Given the description of an element on the screen output the (x, y) to click on. 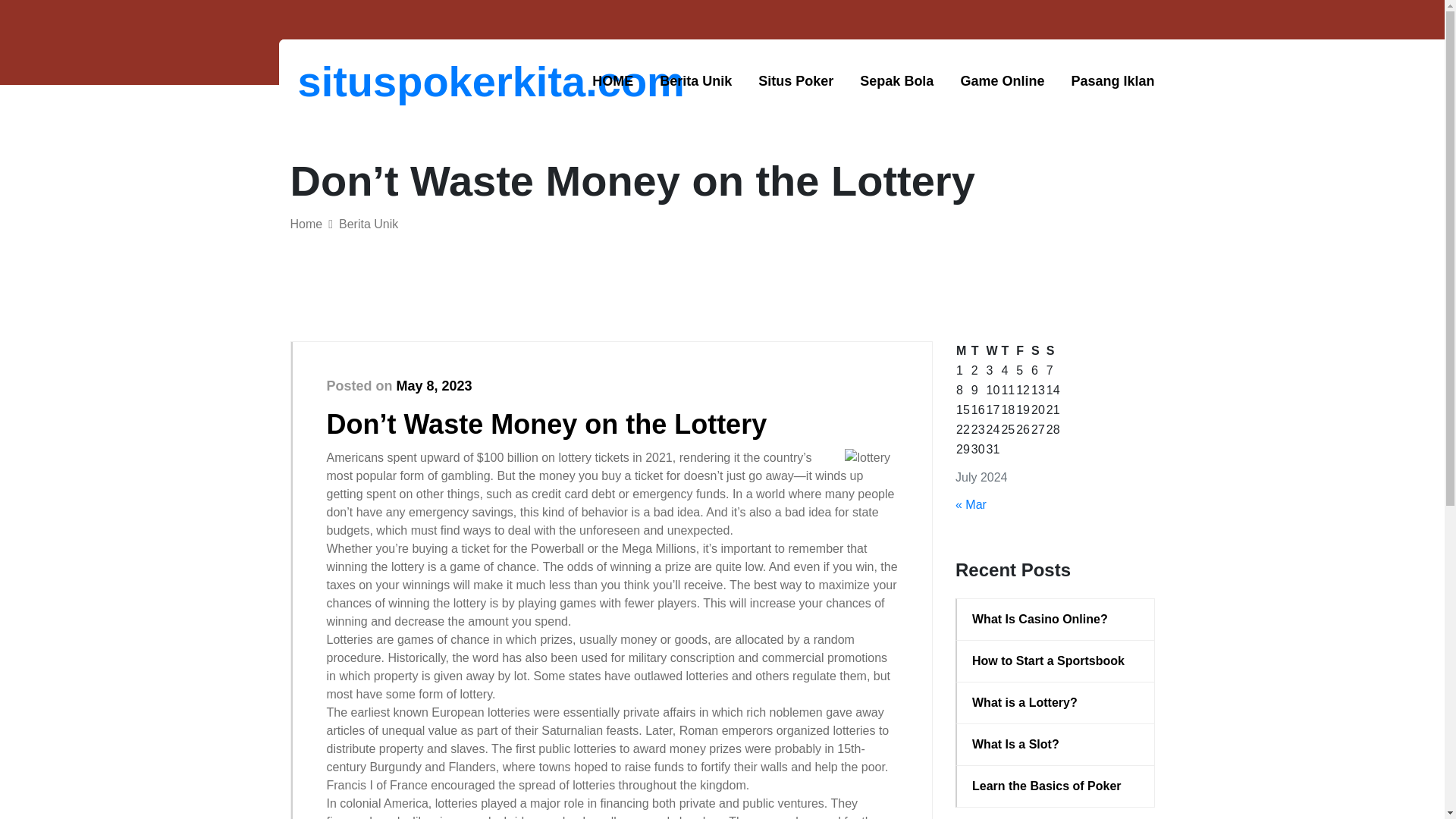
What Is a Slot? (1055, 744)
HOME (612, 81)
Sepak Bola (896, 81)
Situs Poker (795, 81)
Game Online (1001, 81)
situspokerkita.com (376, 81)
Tuesday (978, 351)
Learn the Basics of Poker (1055, 786)
Berita Unik (695, 81)
How to Start a Sportsbook (1055, 660)
Berita Unik (368, 223)
Thursday (1007, 351)
Sunday (1053, 351)
Situs Poker (795, 81)
Friday (1022, 351)
